Given the description of an element on the screen output the (x, y) to click on. 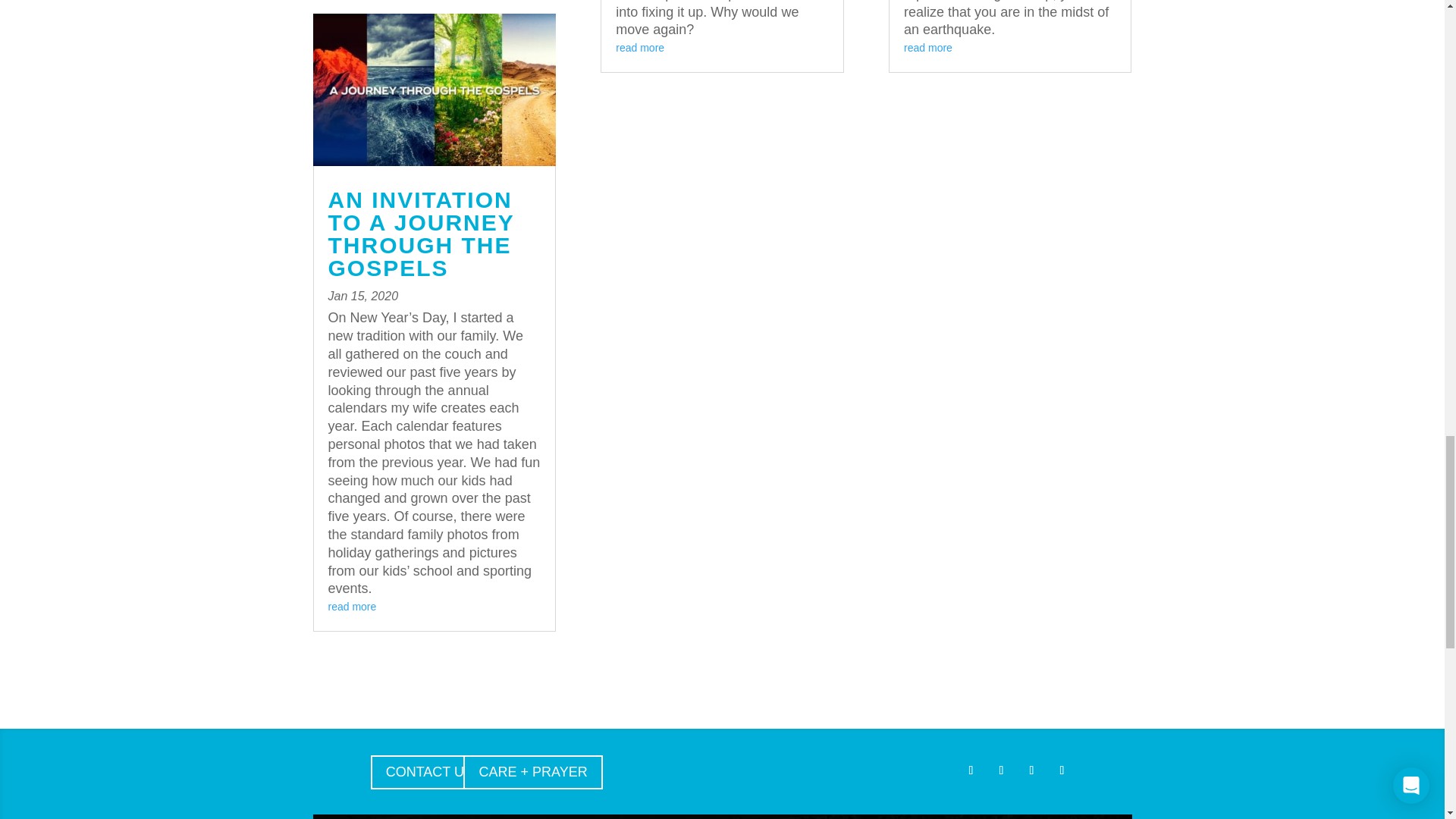
Follow on Youtube (1061, 770)
Follow on Facebook (970, 770)
Follow on Instagram (1000, 770)
Follow on TikTok (1031, 770)
